Given the description of an element on the screen output the (x, y) to click on. 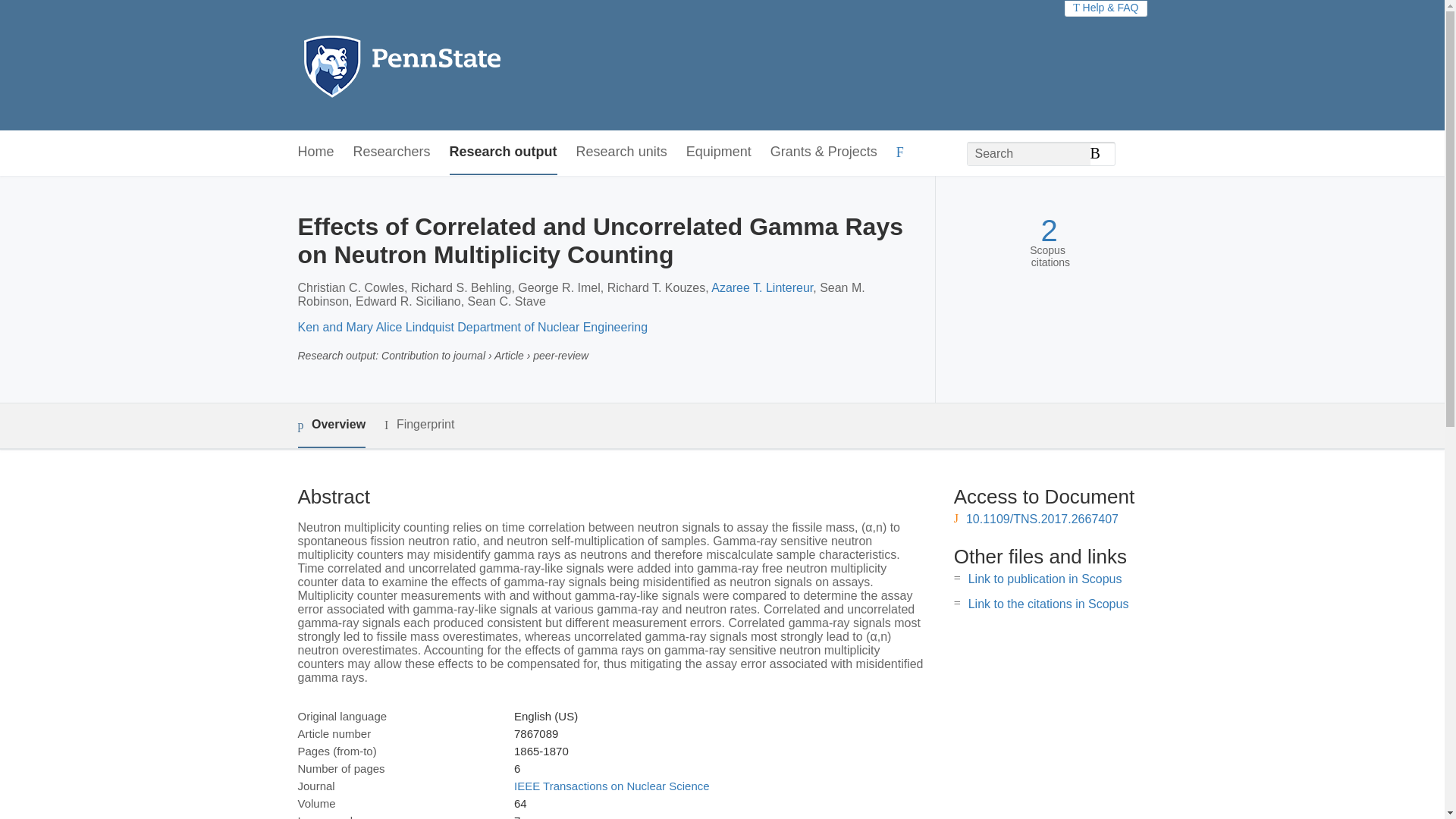
Penn State Home (467, 65)
Fingerprint (419, 424)
Link to the citations in Scopus (1048, 603)
IEEE Transactions on Nuclear Science (611, 785)
Research units (621, 152)
Azaree T. Lintereur (761, 287)
Researchers (391, 152)
Equipment (718, 152)
